Given the description of an element on the screen output the (x, y) to click on. 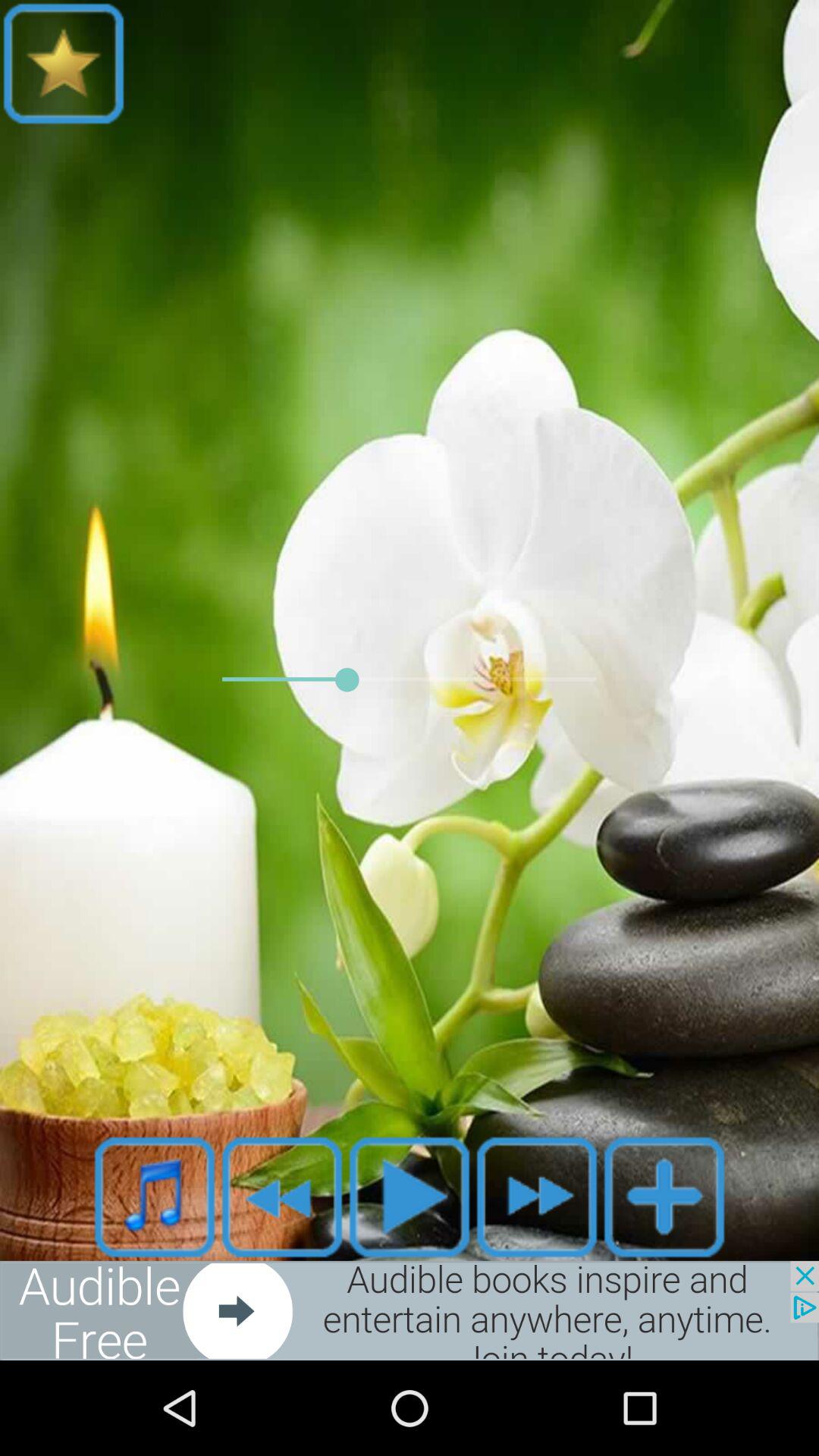
add item (664, 1196)
